Given the description of an element on the screen output the (x, y) to click on. 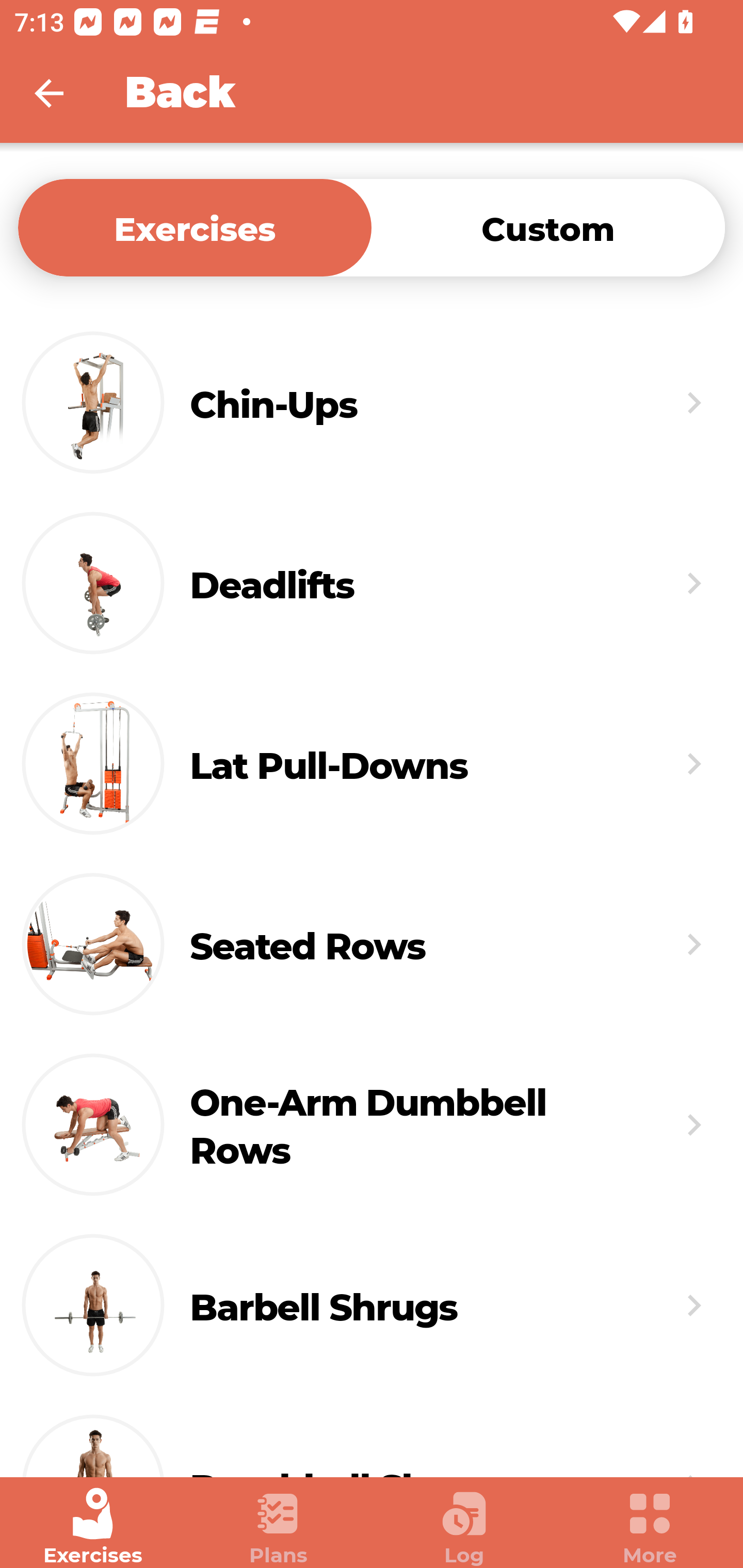
Back (62, 92)
Exercises (194, 226)
Custom (548, 226)
Exercises (92, 1527)
Plans (278, 1527)
Log (464, 1527)
More (650, 1527)
